Given the description of an element on the screen output the (x, y) to click on. 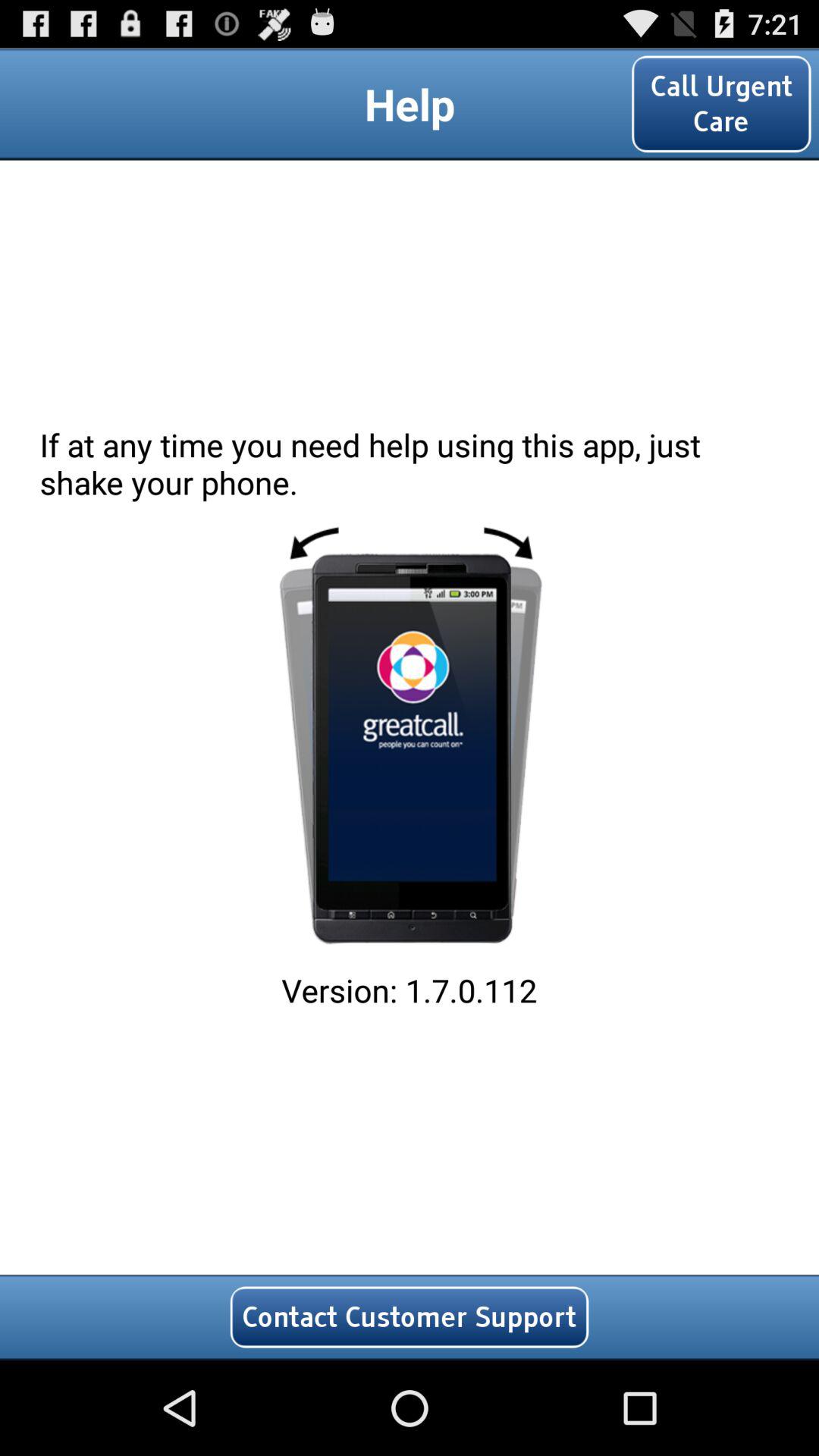
choose the icon below version 1 7 (409, 1316)
